Given the description of an element on the screen output the (x, y) to click on. 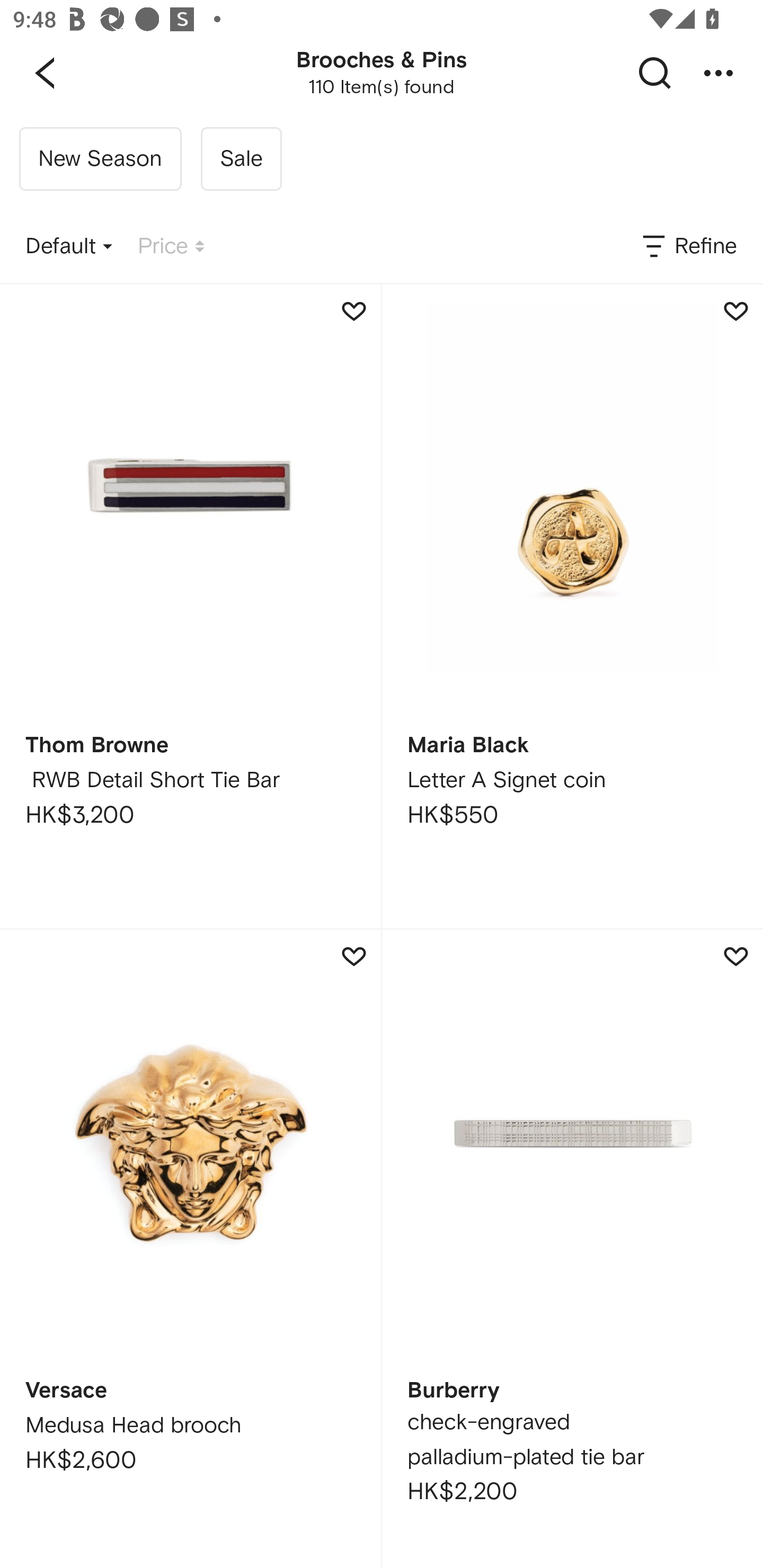
New Season (100, 158)
Sale (240, 158)
Default (68, 246)
Price (171, 246)
Refine (688, 246)
Thom Browne  RWB Detail Short Tie Bar  HK$3,200 (190, 605)
Maria Black Letter A Signet coin HK$550 (572, 605)
Versace Medusa Head brooch HK$2,600 (190, 1248)
